Given the description of an element on the screen output the (x, y) to click on. 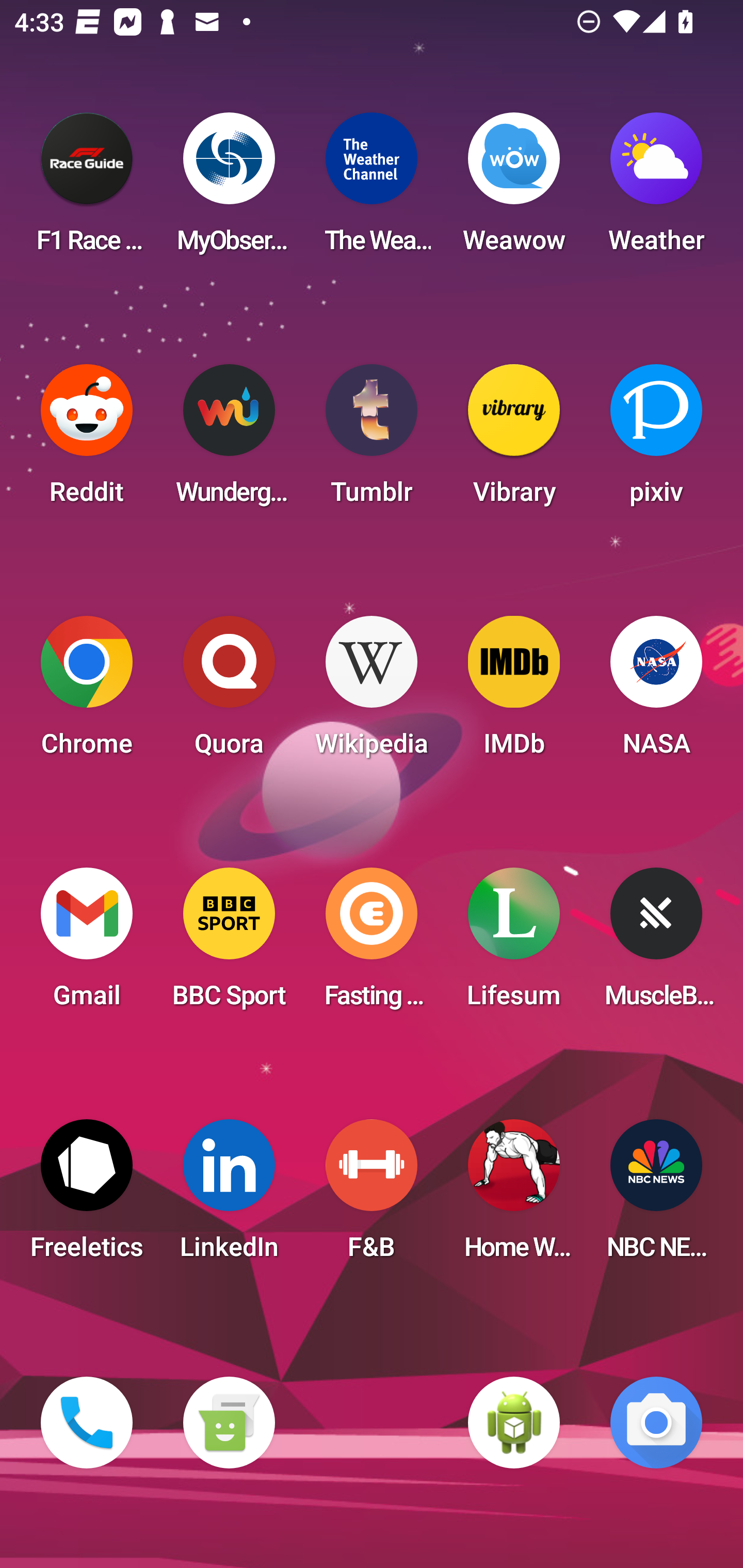
F1 Race Guide (86, 188)
MyObservatory (228, 188)
The Weather Channel (371, 188)
Weawow (513, 188)
Weather (656, 188)
Reddit (86, 440)
Wunderground (228, 440)
Tumblr (371, 440)
Vibrary (513, 440)
pixiv (656, 440)
Chrome (86, 692)
Quora (228, 692)
Wikipedia (371, 692)
IMDb (513, 692)
NASA (656, 692)
Gmail (86, 943)
BBC Sport (228, 943)
Fasting Coach (371, 943)
Lifesum (513, 943)
MuscleBooster (656, 943)
Freeletics (86, 1195)
LinkedIn (228, 1195)
F&B (371, 1195)
Home Workout (513, 1195)
NBC NEWS (656, 1195)
Phone (86, 1422)
Messaging (228, 1422)
WebView Browser Tester (513, 1422)
Camera (656, 1422)
